Given the description of an element on the screen output the (x, y) to click on. 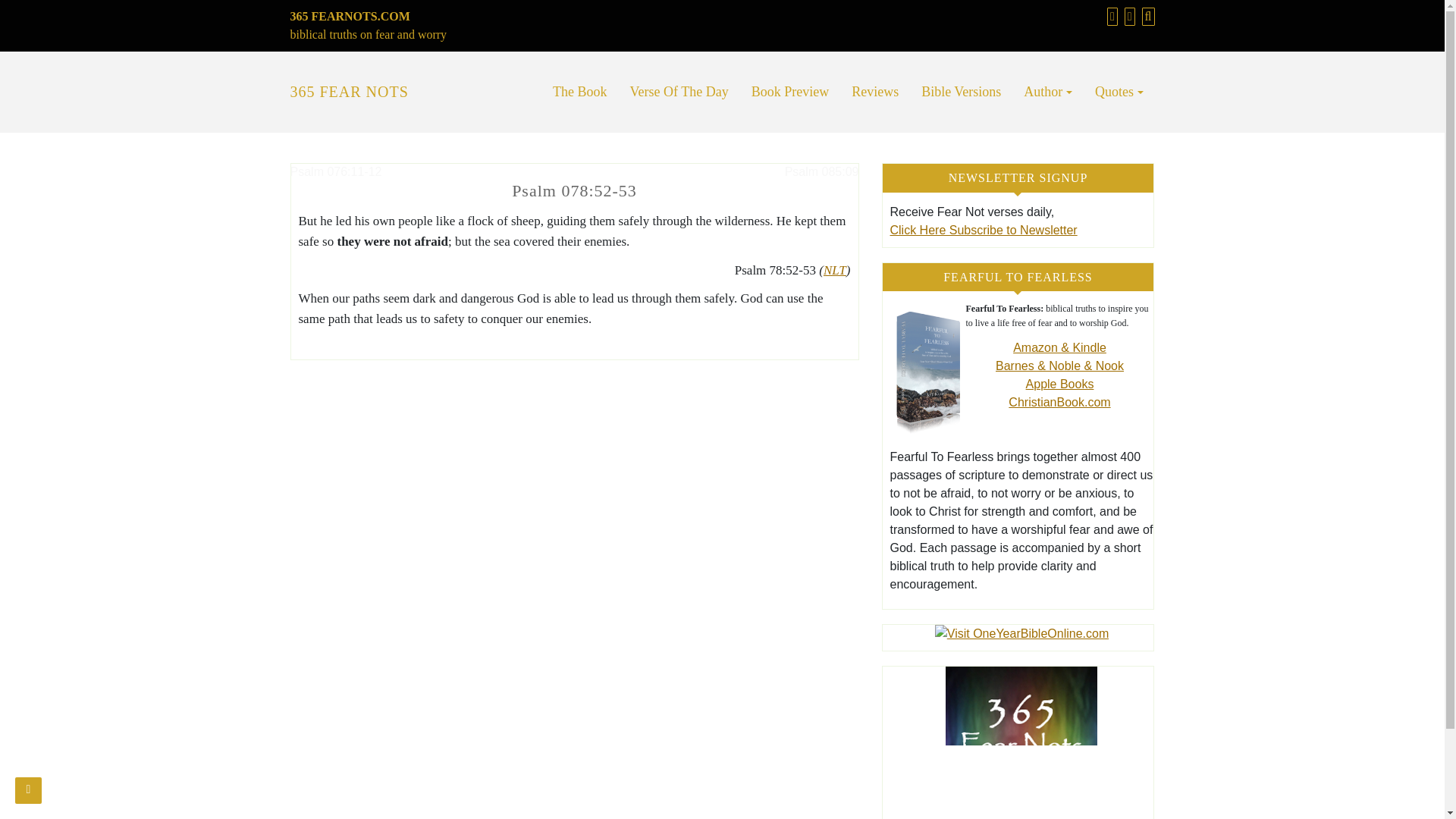
ChristianBook.com (1059, 401)
Verse Of The Day (678, 91)
Bible Versions (960, 91)
Bible Versions (960, 91)
Biblical Truths Preview (790, 91)
365 FEAR NOTS (348, 91)
Book Preview (790, 91)
Fearful To Fearless Book (579, 91)
Psalm 085:09 (821, 171)
Click Here Subscribe to Newsletter (983, 229)
Apple Books (1060, 383)
365 FEARNOTS.COM (349, 15)
365 Fear Nots: Verse Of The Day (678, 91)
The Book (579, 91)
NLT (834, 269)
